Given the description of an element on the screen output the (x, y) to click on. 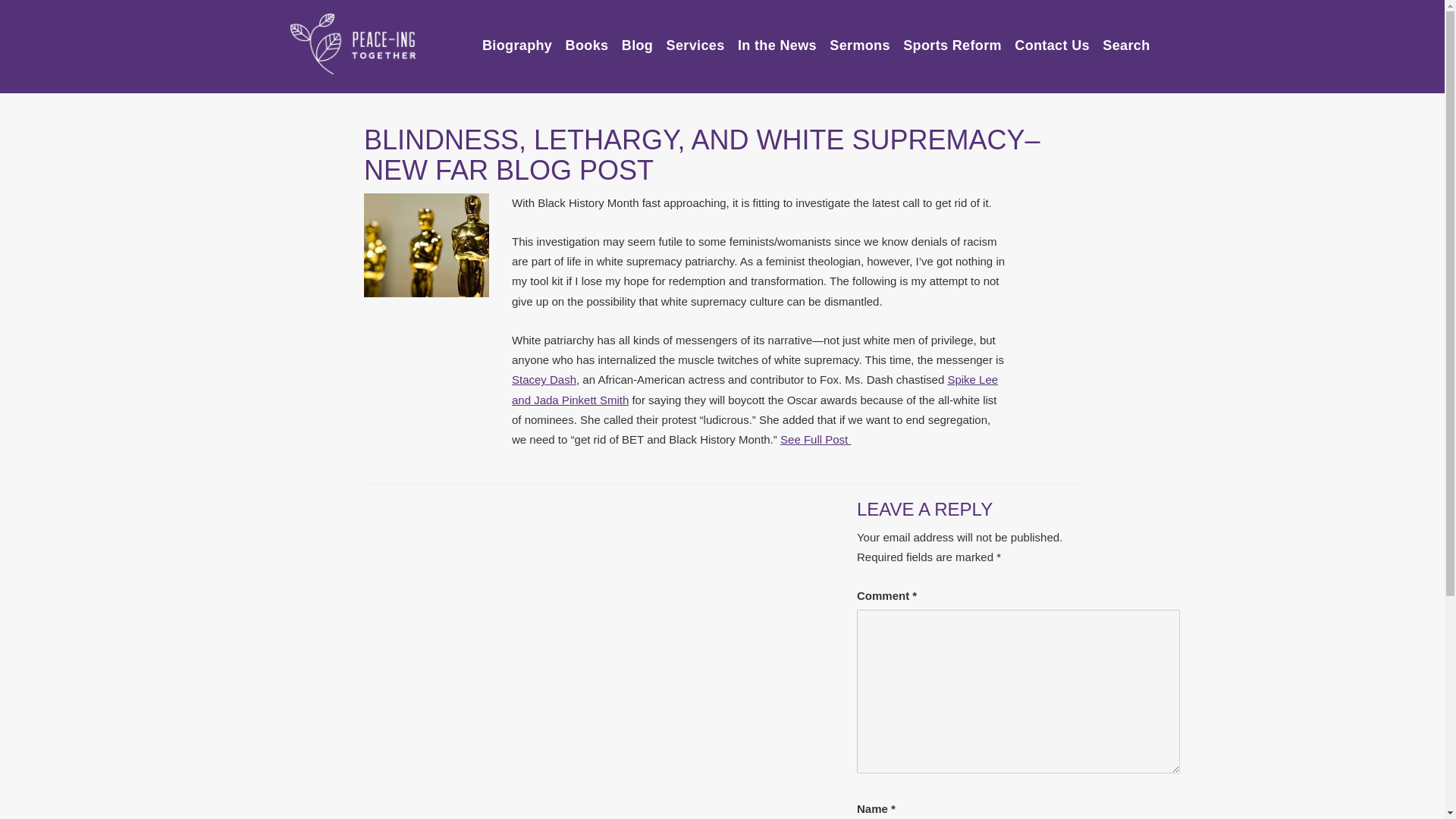
Biography (516, 38)
In the News (777, 38)
Home (351, 43)
Search (1126, 38)
Sports Reform (951, 38)
Stacey Dash (544, 379)
Services (695, 38)
Contact Us (1051, 38)
Spike Lee and Jada Pinkett Smith (754, 389)
Sermons (859, 38)
